Given the description of an element on the screen output the (x, y) to click on. 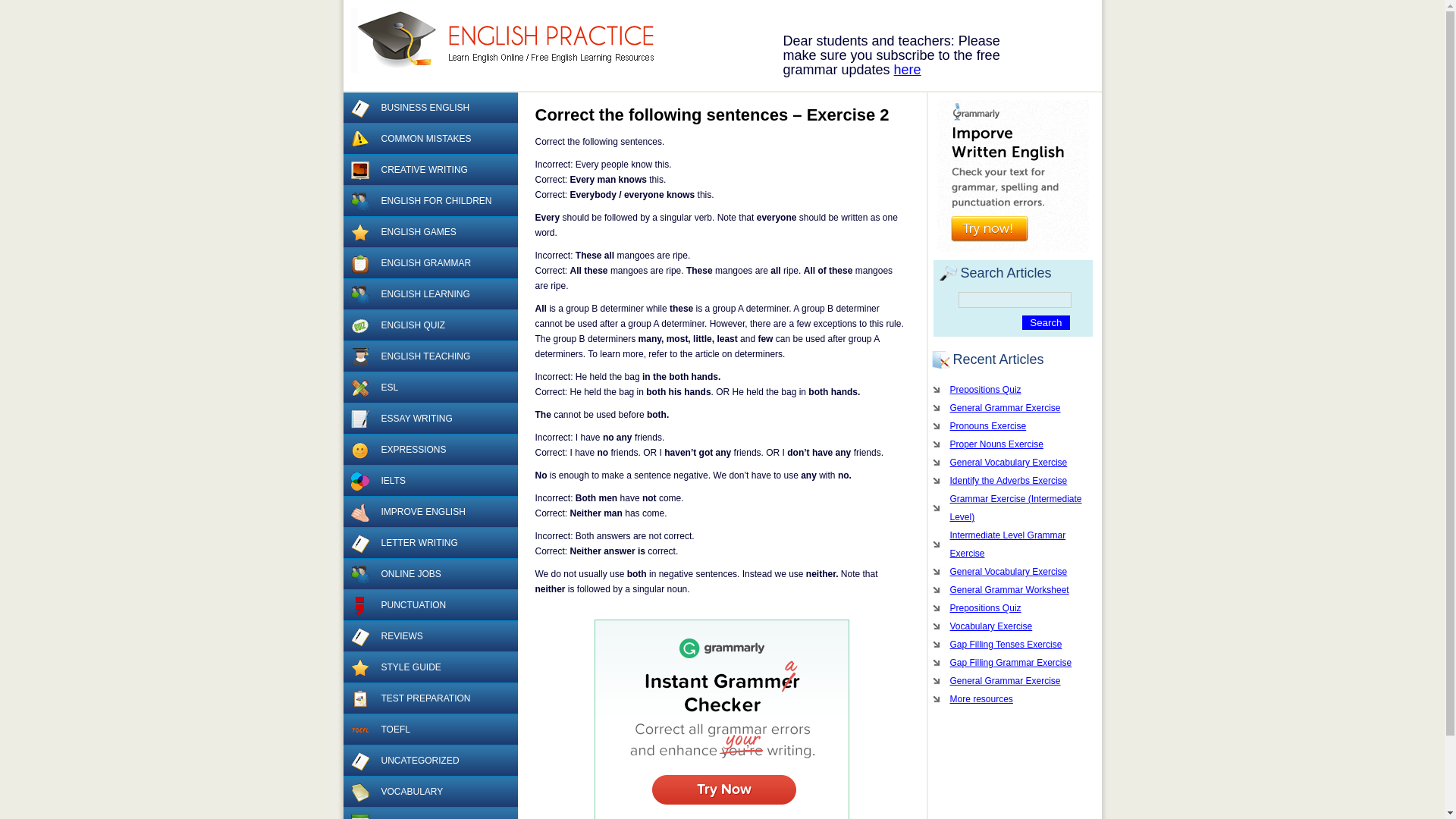
ENGLISH FOR CHILDREN (429, 201)
English Teaching (359, 357)
Common Mistakes (359, 139)
General Grammar Exercise (1012, 407)
LETTER WRITING (429, 542)
UNCATEGORIZED (429, 760)
VOCABULARY (429, 791)
ENGLISH GRAMMAR (429, 263)
TOEFL (429, 729)
ESSAY WRITING (429, 418)
ESL (429, 387)
Business English (359, 108)
Search (1045, 322)
REVIEWS (429, 635)
English Games (359, 232)
